Given the description of an element on the screen output the (x, y) to click on. 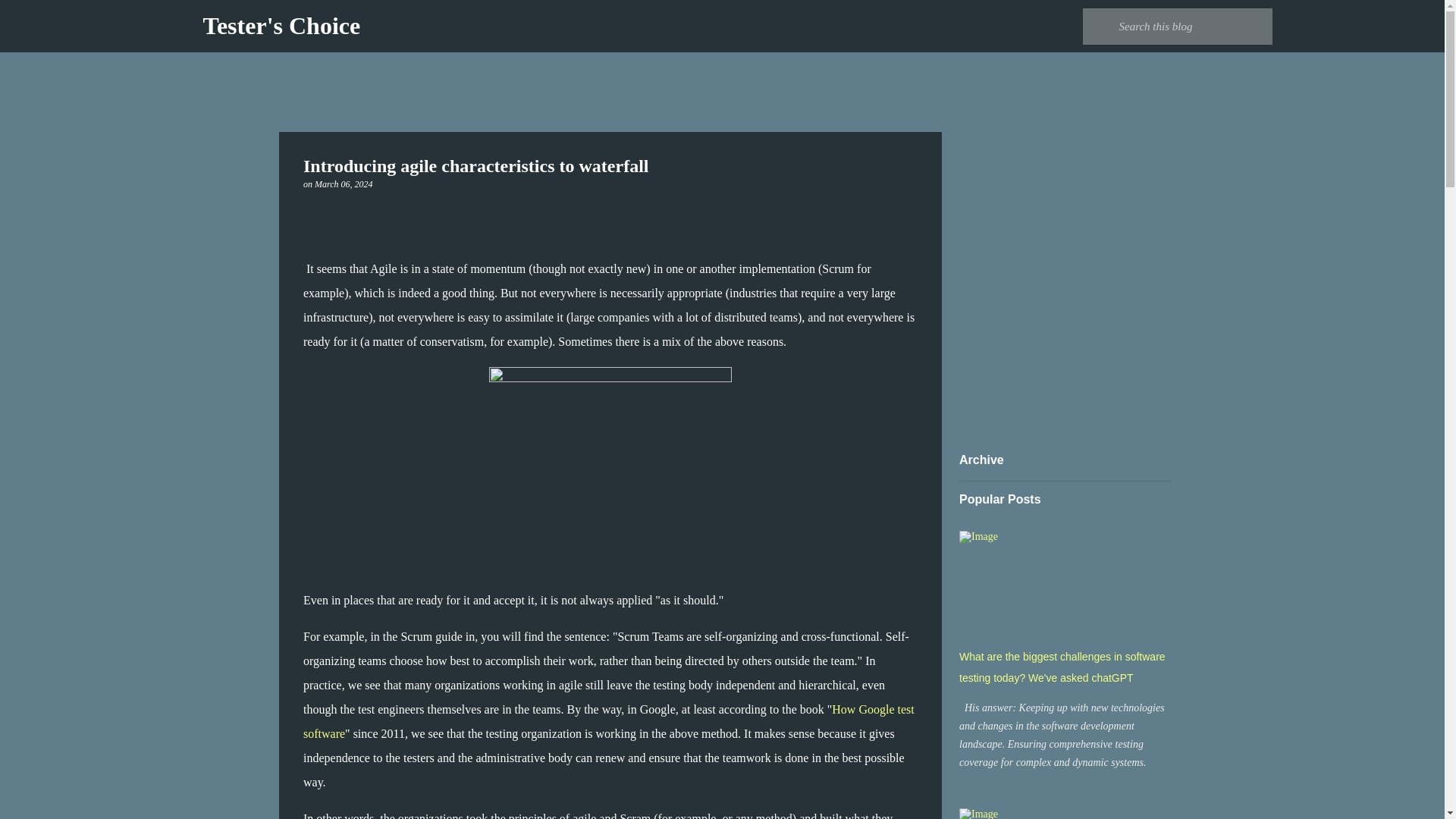
How Google test software (608, 721)
March 06, 2024 (343, 184)
Tester's Choice (282, 25)
permanent link (343, 184)
